Given the description of an element on the screen output the (x, y) to click on. 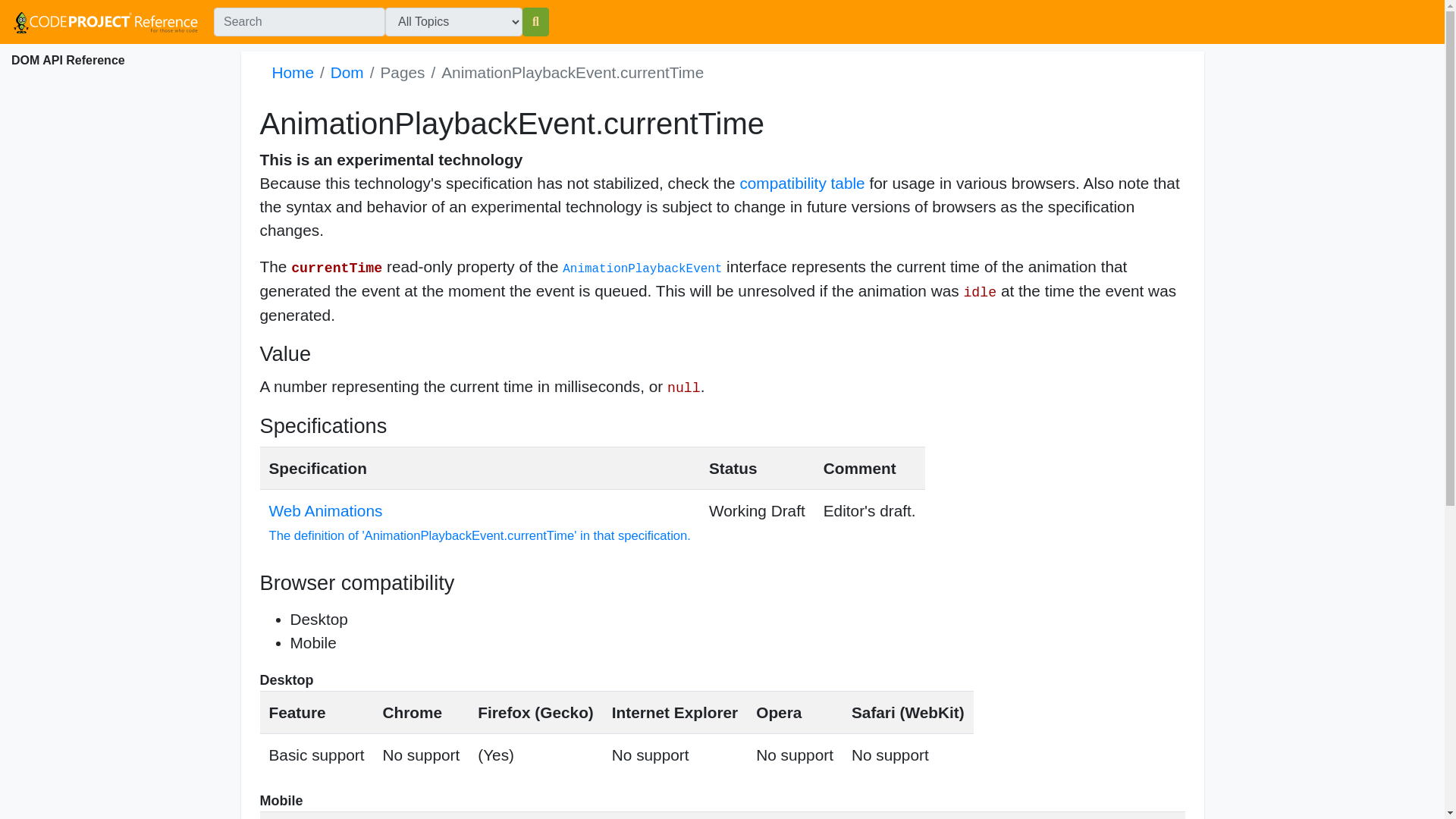
Desktop (318, 619)
Dom (347, 72)
Home (291, 72)
compatibility table (801, 182)
Mobile (312, 642)
Please update this with the earliest version of support. (495, 754)
home (106, 22)
AnimationPlaybackEvent (642, 268)
